Given the description of an element on the screen output the (x, y) to click on. 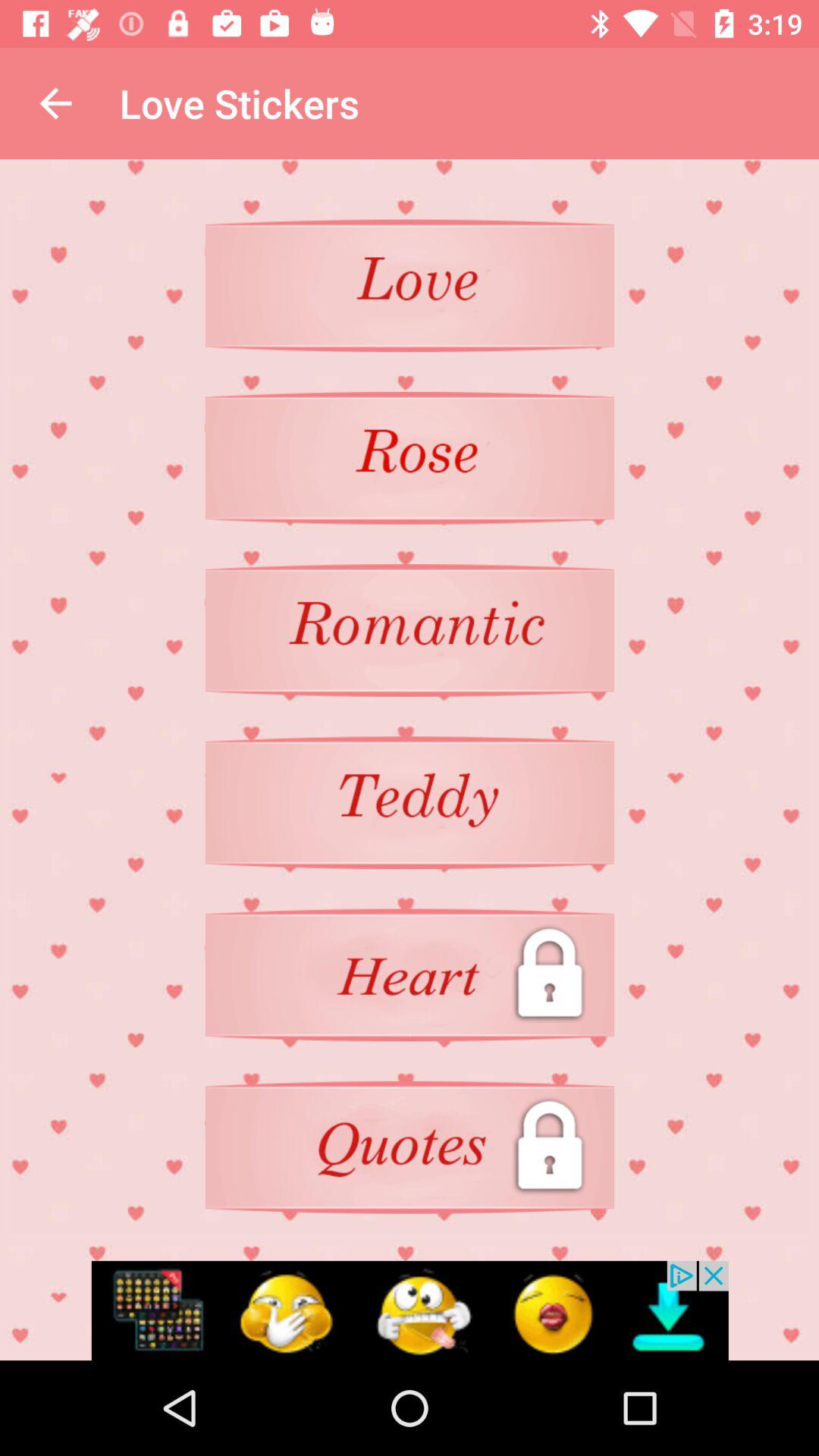
quotes switch option (409, 1147)
